Given the description of an element on the screen output the (x, y) to click on. 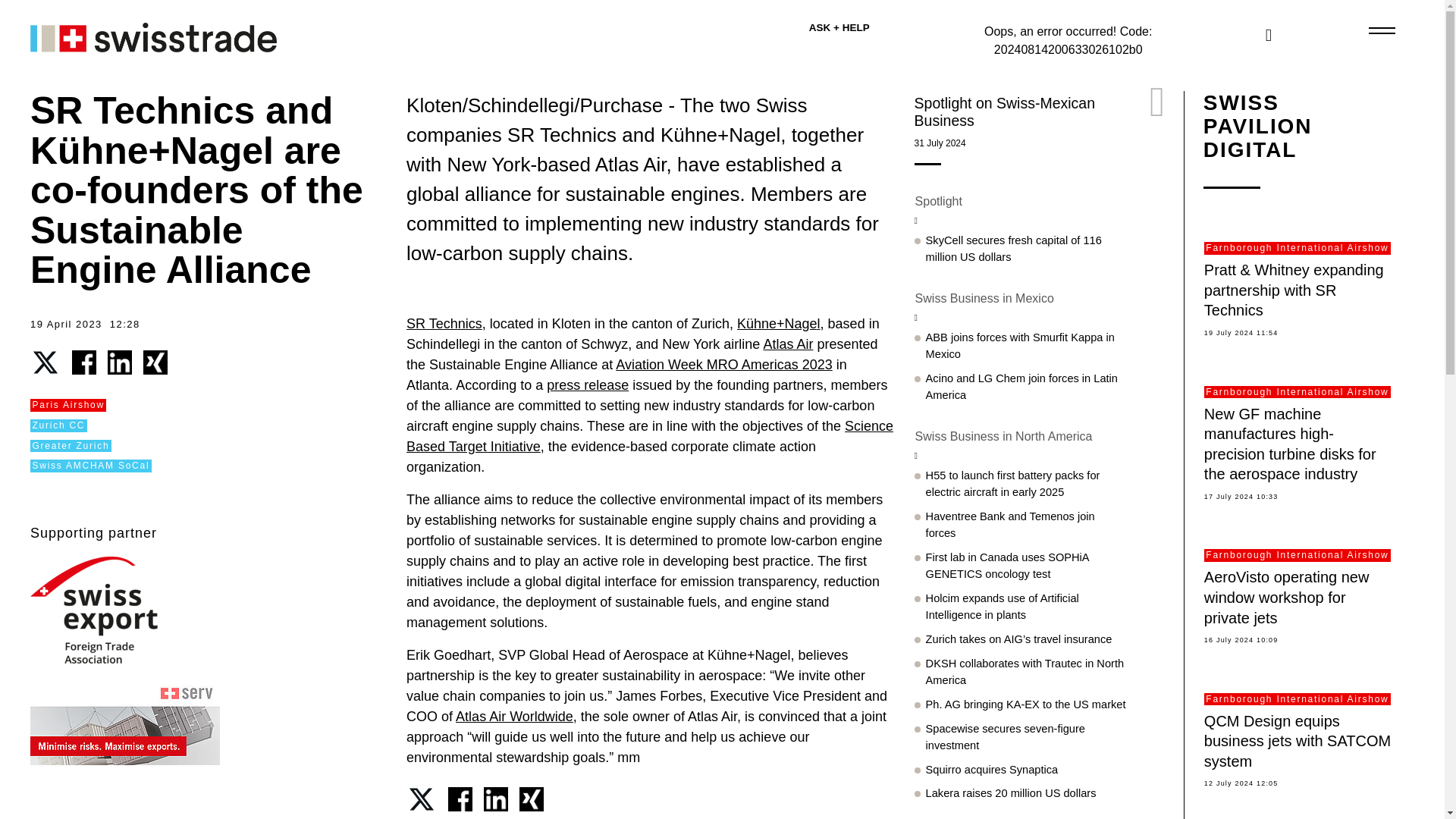
Science Based Target Initiative (649, 436)
Swiss AMCHAM SoCal (90, 465)
Atlas Air (787, 344)
Zurich CC (58, 425)
Paris Airshow (68, 404)
Menu (1379, 30)
QCM Design equips business jets with SATCOM system (1297, 740)
Swiss Trade Logo (124, 35)
Aviation Week MRO Americas 2023 (723, 364)
press release (587, 385)
